Given the description of an element on the screen output the (x, y) to click on. 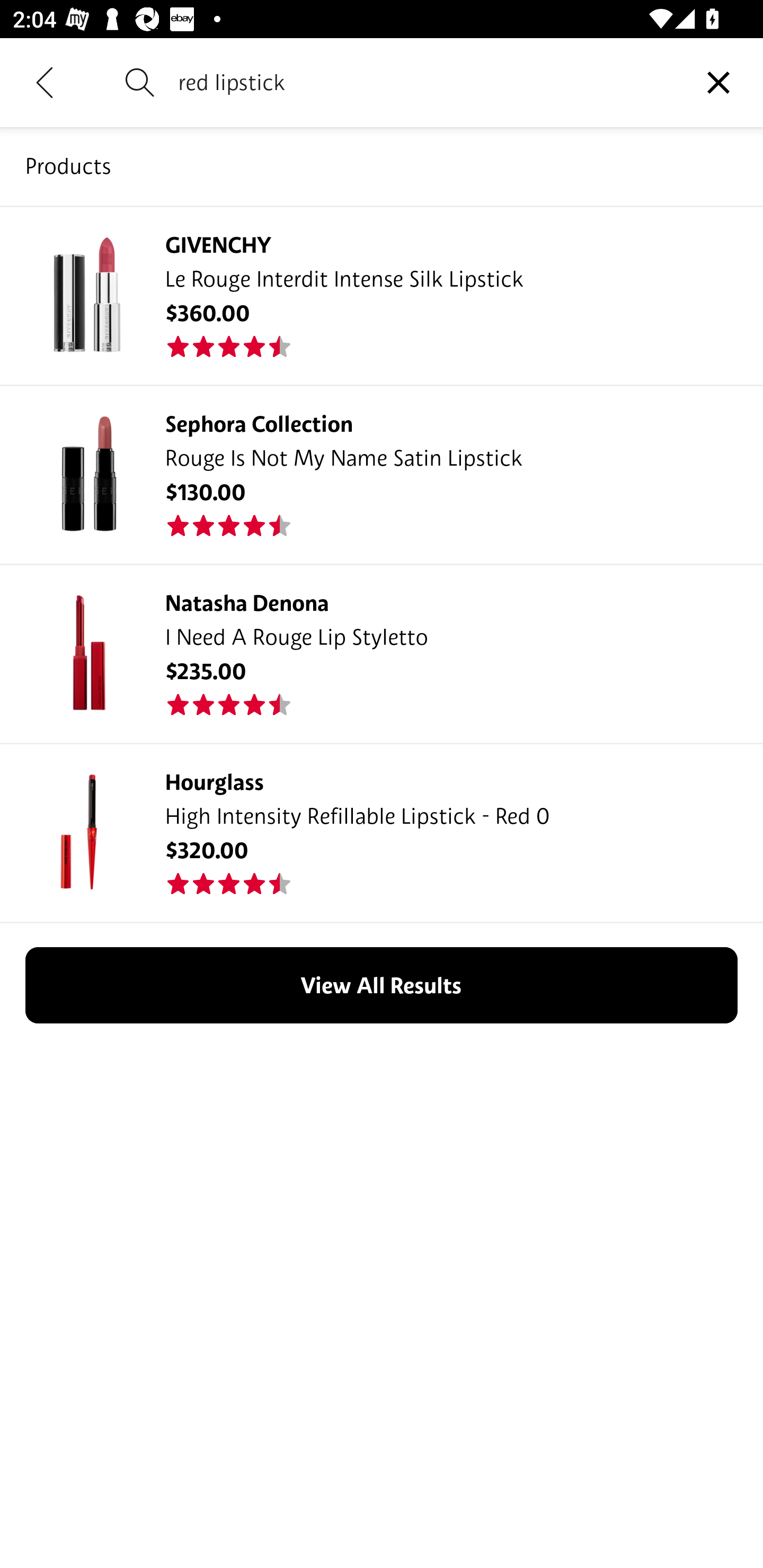
Navigate up (44, 82)
Clear query (718, 81)
red lipstick (425, 82)
View All Results (381, 985)
